Given the description of an element on the screen output the (x, y) to click on. 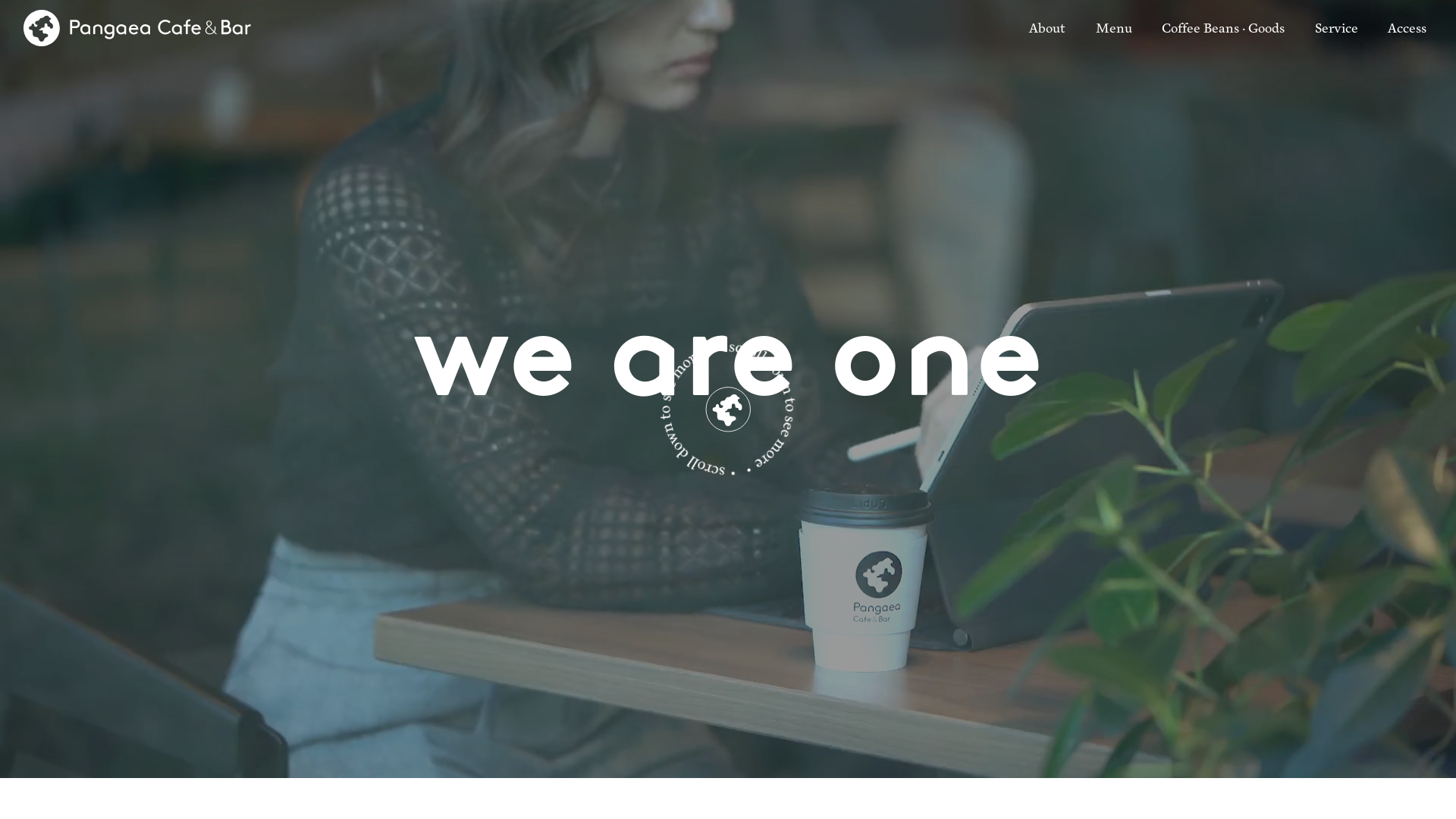
Menu Element type: text (1113, 28)
Service Element type: text (1336, 28)
About
(current) Element type: text (1046, 28)
Access Element type: text (1406, 28)
